Given the description of an element on the screen output the (x, y) to click on. 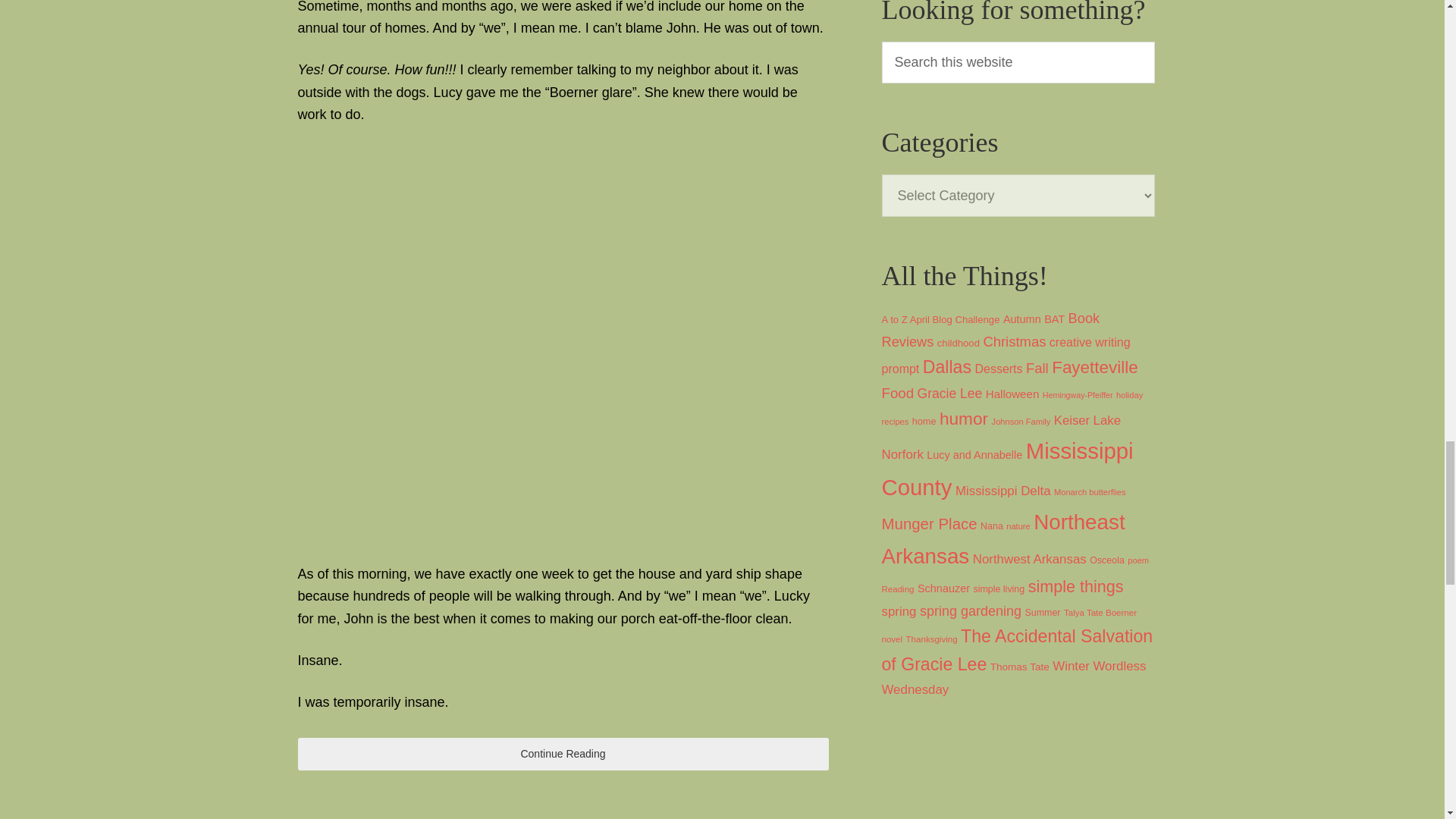
Continue Reading (562, 753)
